Given the description of an element on the screen output the (x, y) to click on. 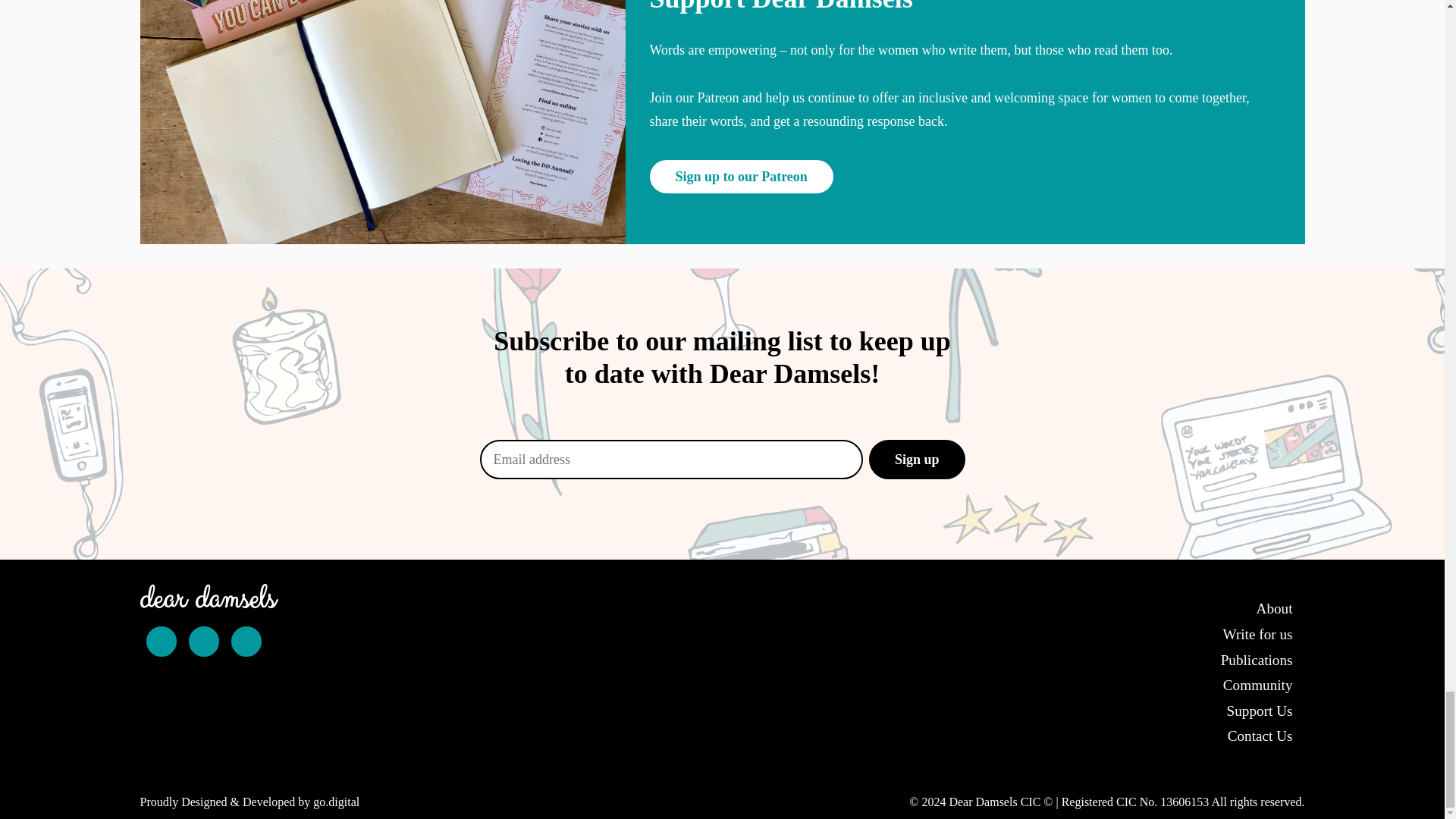
Sign up (917, 459)
